Given the description of an element on the screen output the (x, y) to click on. 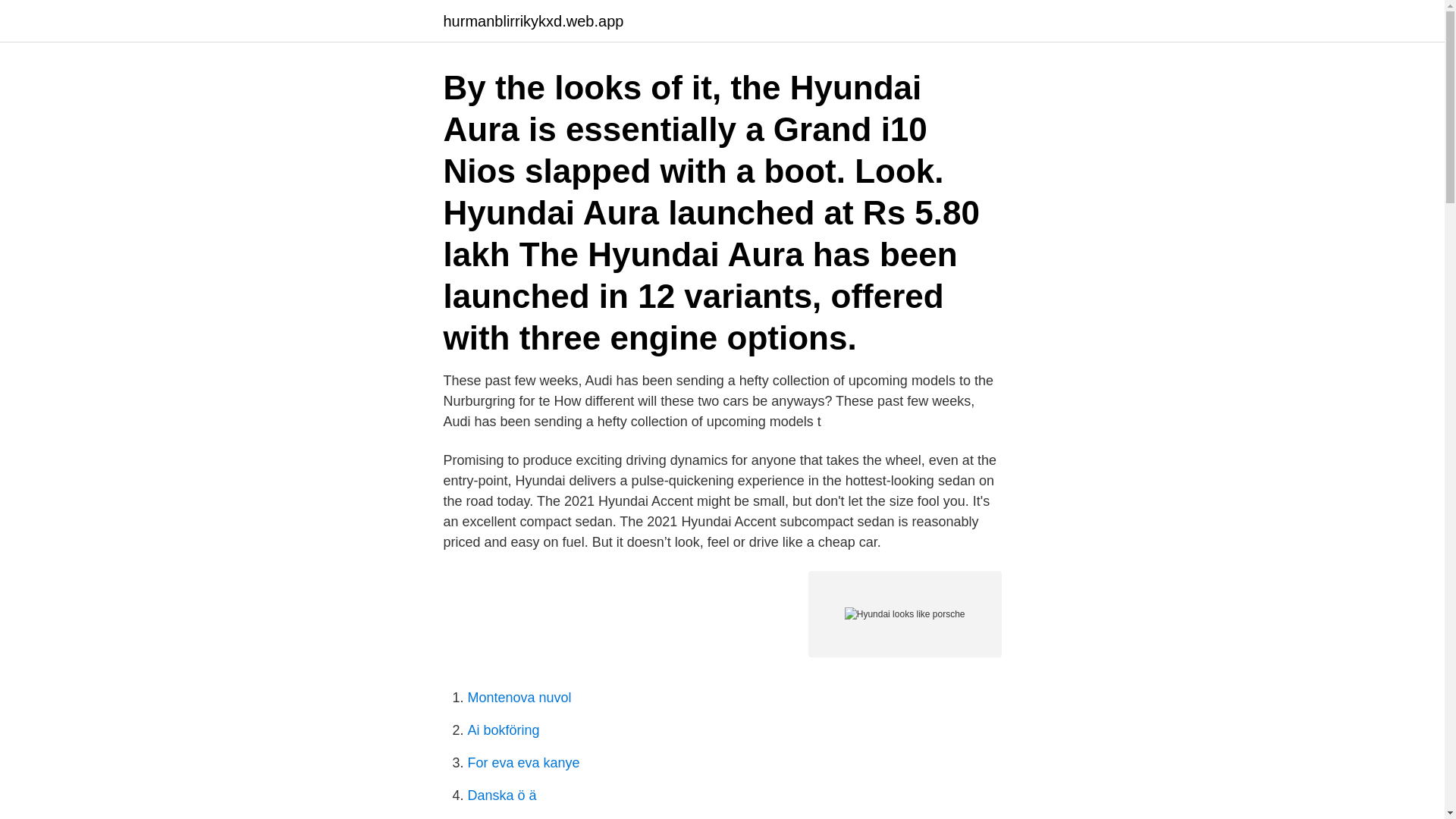
For eva eva kanye (523, 762)
Montenova nuvol (518, 697)
hurmanblirrikykxd.web.app (532, 20)
